Given the description of an element on the screen output the (x, y) to click on. 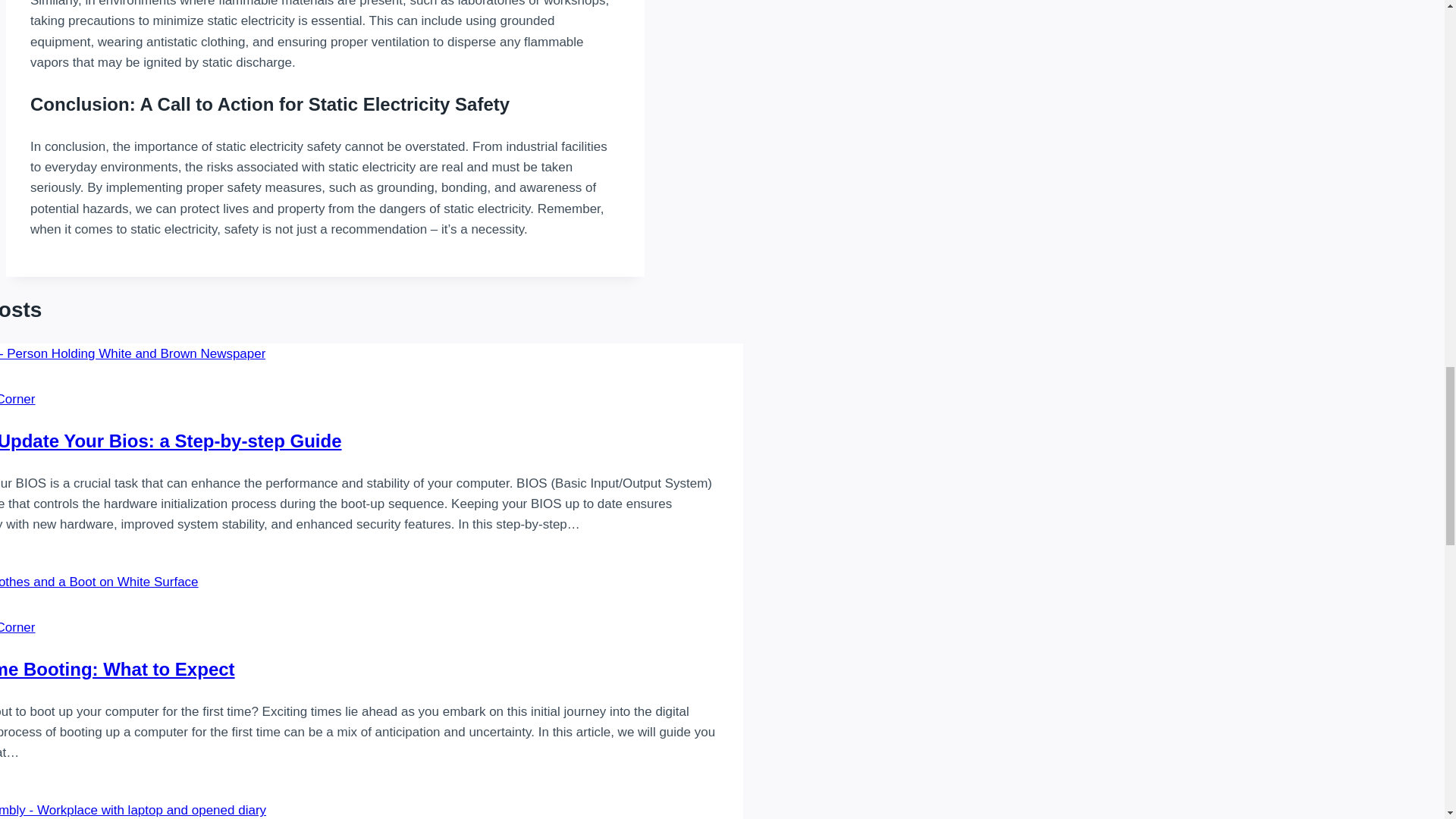
First Time Booting: What to Expect (117, 669)
How to Update Your Bios: a Step-by-step Guide (170, 440)
Beginner's Corner (17, 399)
Beginner's Corner (17, 626)
